Given the description of an element on the screen output the (x, y) to click on. 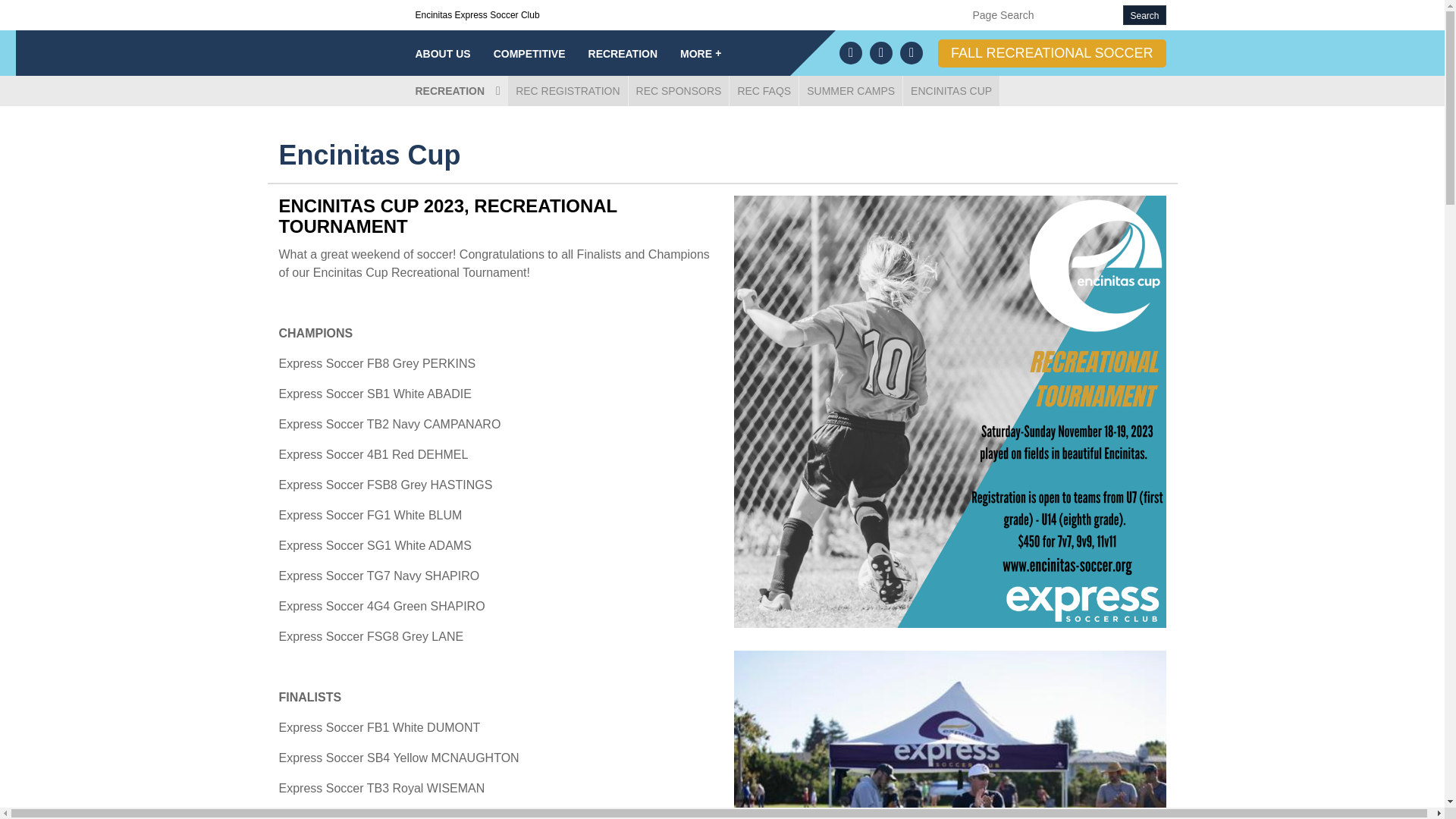
click to go to 'Summer First Touch Soccer Camp' (850, 91)
REC SPONSORS (678, 91)
click to go to 'About Us' (442, 53)
click to go to 'Recreational Sponsors' (678, 91)
ABOUT US (442, 53)
click to go to 'Recreational Registration' (567, 91)
Instagram (880, 52)
REC REGISTRATION (567, 91)
click to go to 'Recreation FAQs' (763, 91)
RECREATION (622, 53)
FALL RECREATIONAL SOCCER (1051, 53)
click to go to 'Competitive' (528, 53)
MORE (700, 53)
click to go to 'Encinitas Cup' (950, 91)
REC FAQS (763, 91)
